Given the description of an element on the screen output the (x, y) to click on. 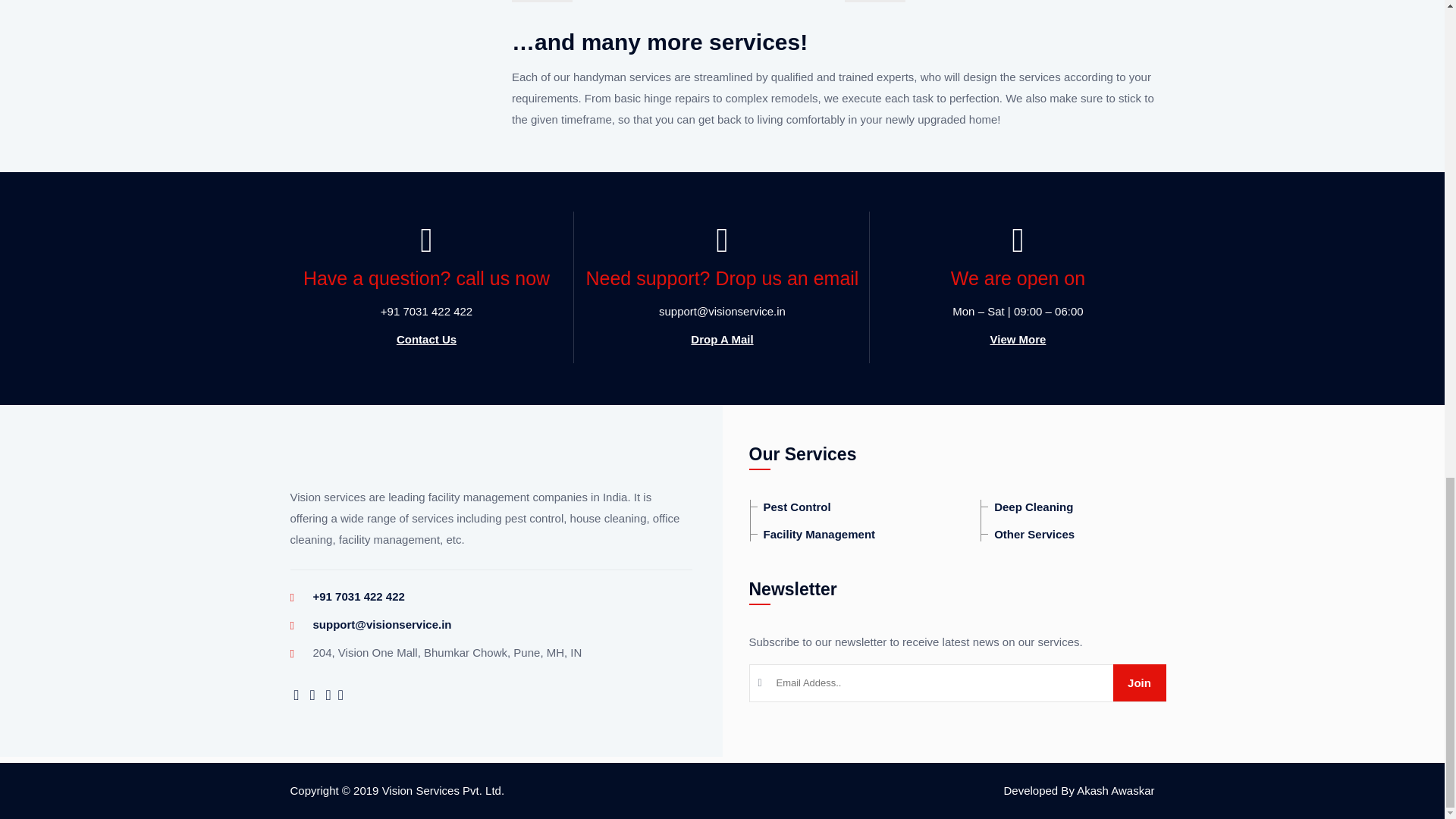
Akash Awaskar (1115, 789)
Drop A Mail (721, 339)
Pest Control (790, 506)
Vision Services Pvt. Ltd. (442, 789)
Join (1139, 682)
Other Services (1026, 533)
Contact Us (426, 339)
Facility Management (812, 533)
Deep Cleaning (1026, 506)
Send (1139, 682)
